Given the description of an element on the screen output the (x, y) to click on. 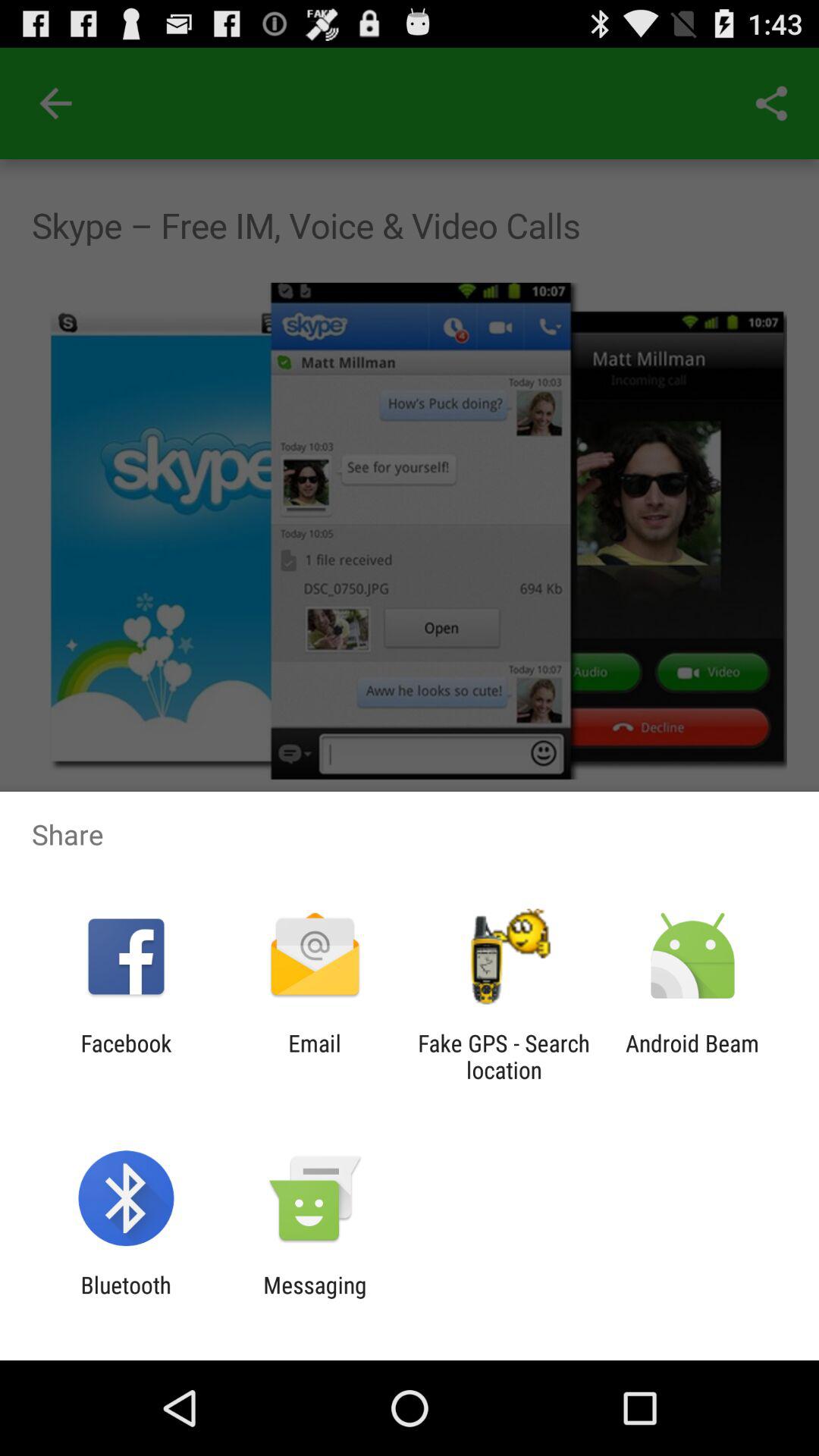
jump to android beam icon (692, 1056)
